Given the description of an element on the screen output the (x, y) to click on. 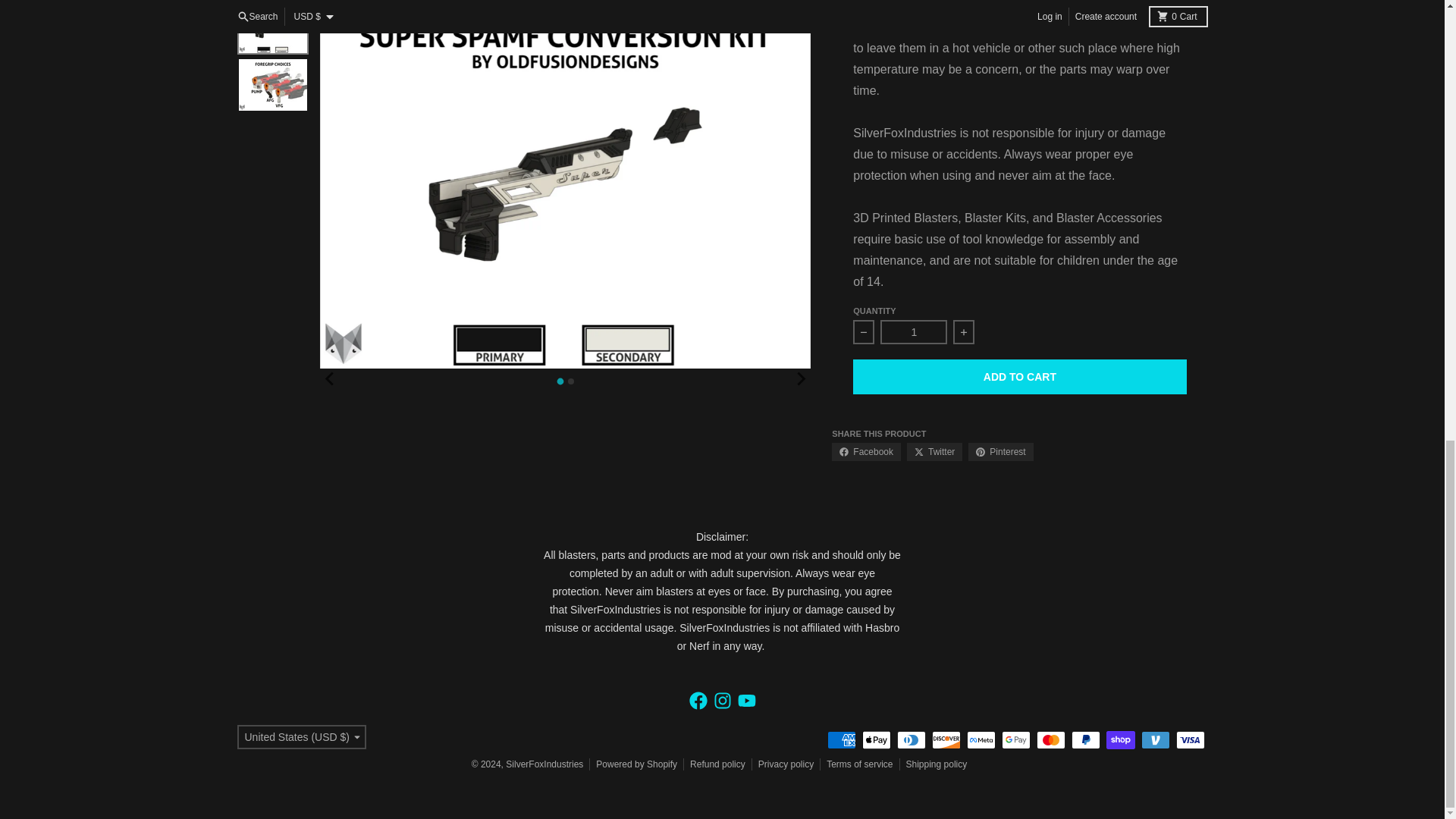
Facebook - SilverFoxIndustries (697, 700)
1 (913, 331)
YouTube - SilverFoxIndustries (745, 700)
Instagram - SilverFoxIndustries (721, 700)
